Given the description of an element on the screen output the (x, y) to click on. 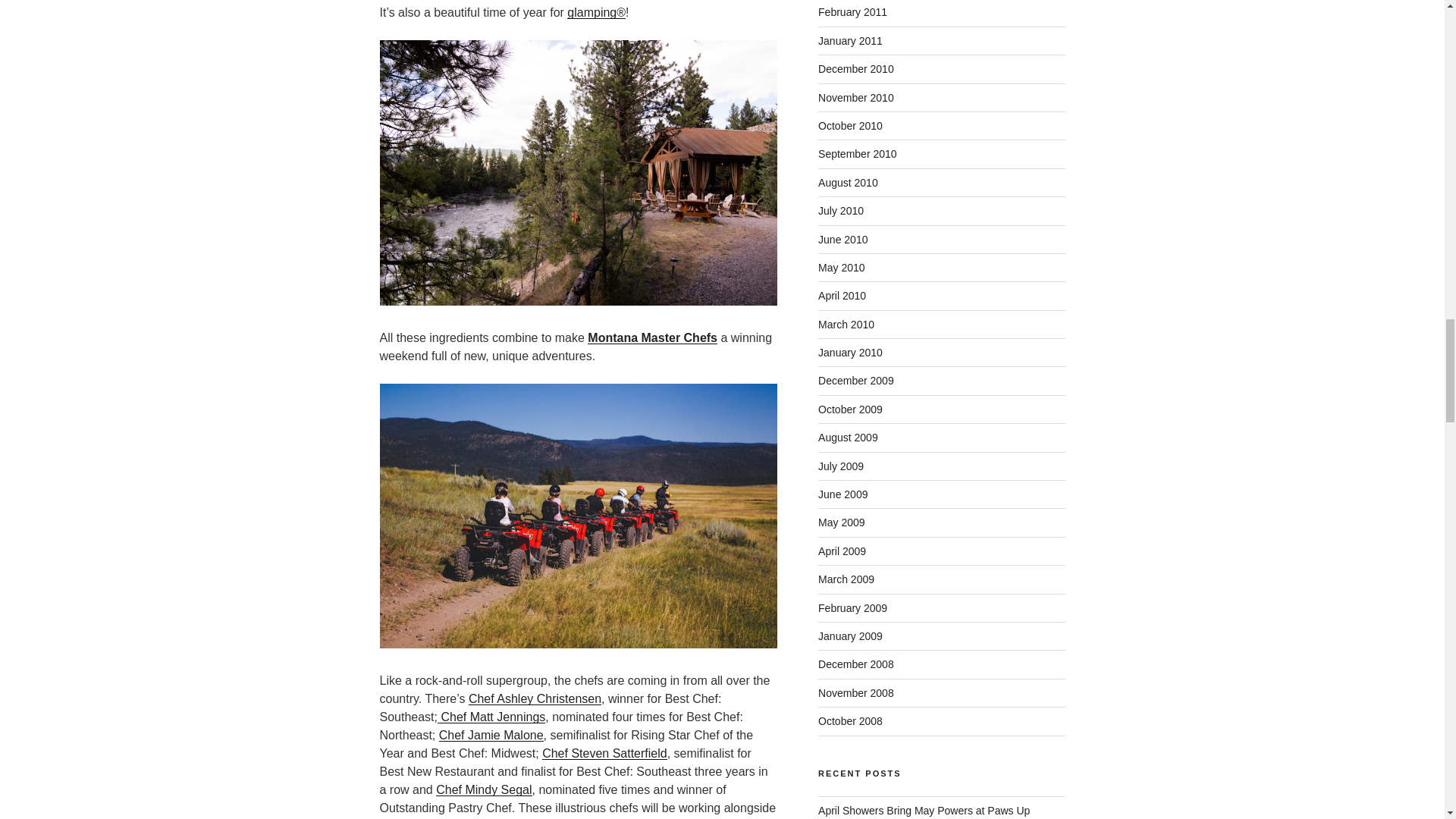
Chef Jamie Malone (491, 735)
Montana Master Chefs (652, 337)
Chef Matt Jennings (491, 716)
Chef Steven Satterfield (603, 753)
Chef Mindy Segal (483, 789)
Chef Ashley Christensen (534, 698)
